Given the description of an element on the screen output the (x, y) to click on. 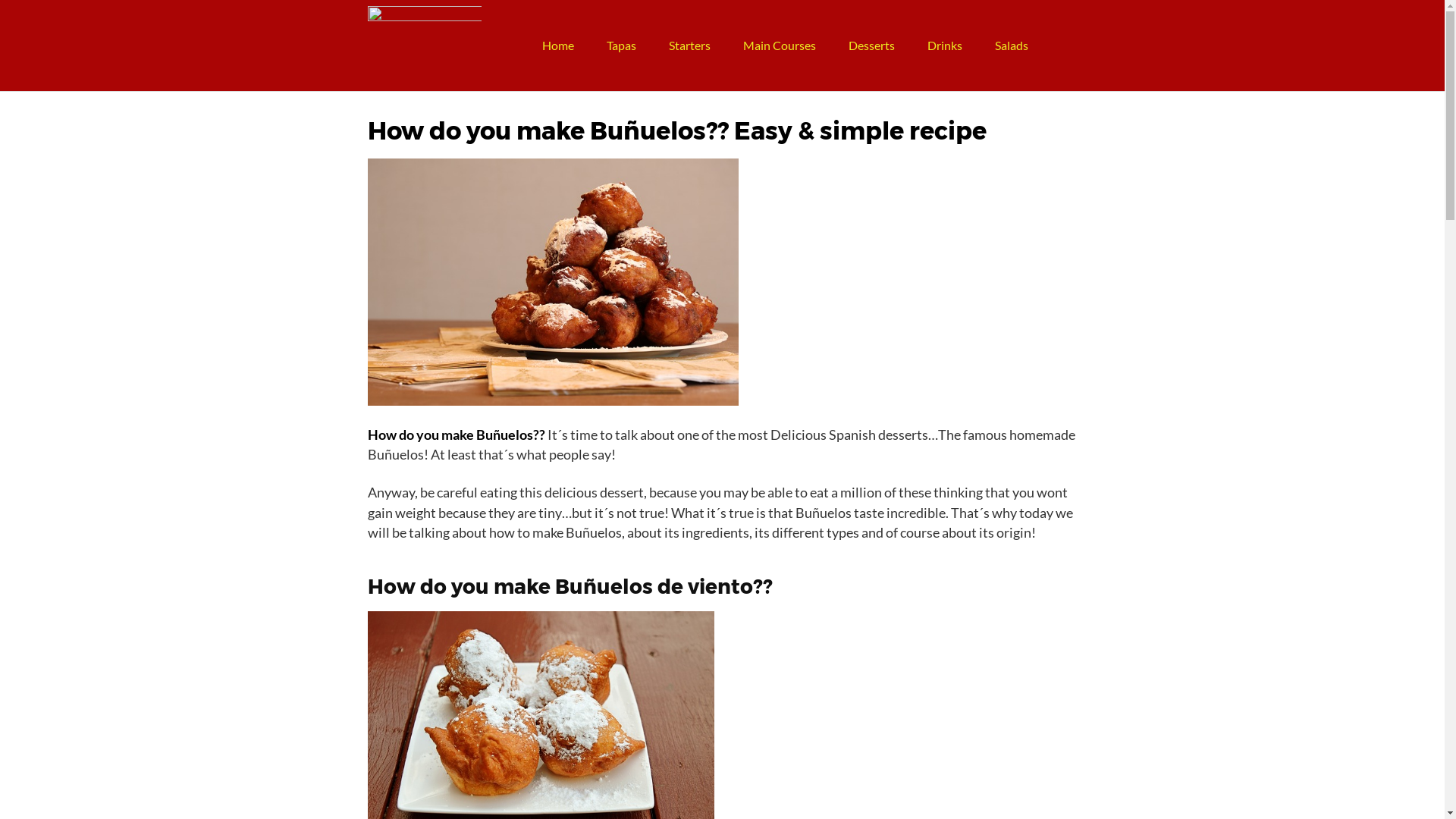
Desserts Element type: text (871, 45)
Starters Element type: text (689, 45)
Salads Element type: text (1011, 45)
Home Element type: text (558, 45)
Main Courses Element type: text (779, 45)
Tapas Element type: text (621, 45)
Drinks Element type: text (944, 45)
